Given the description of an element on the screen output the (x, y) to click on. 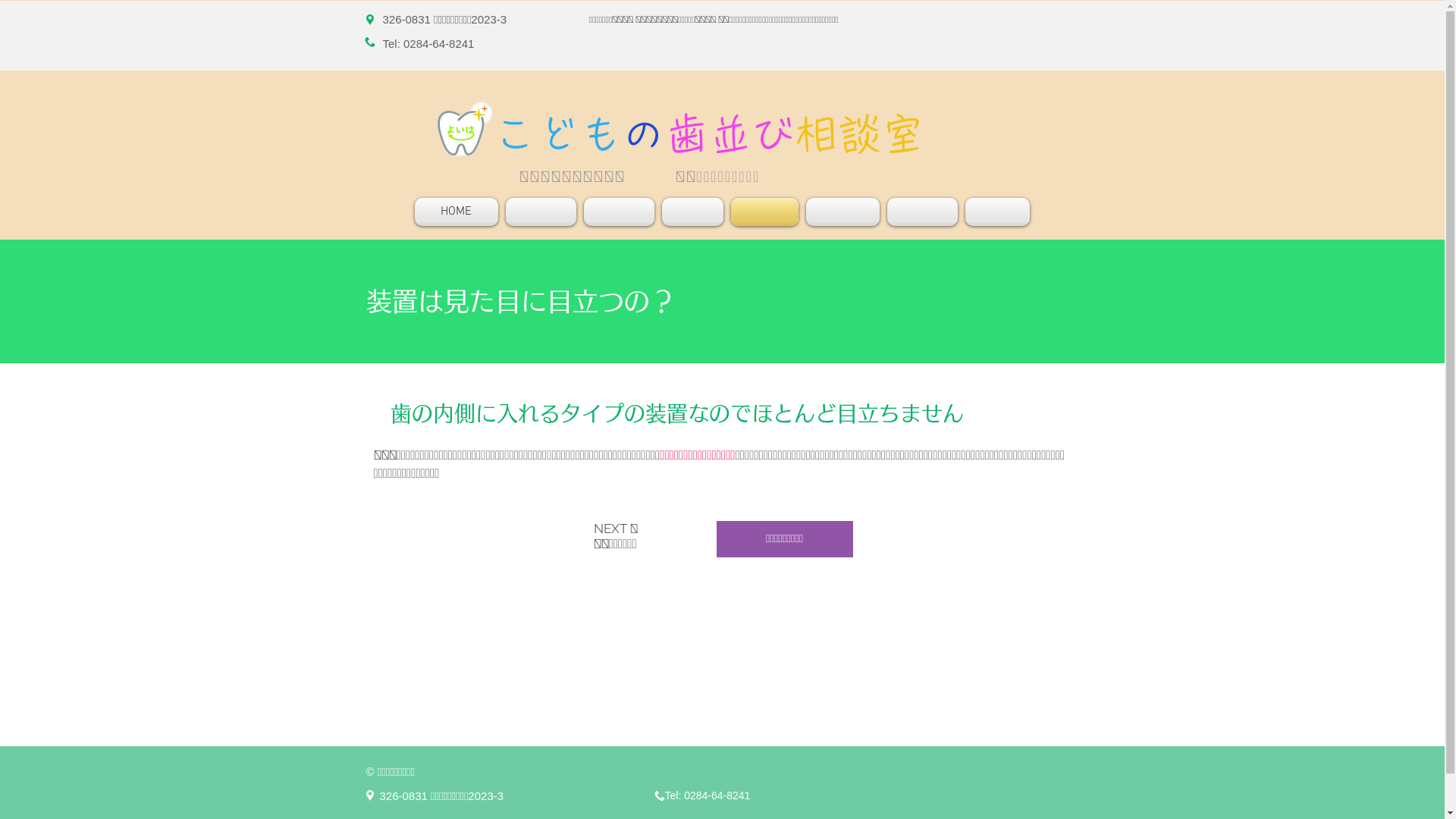
HOME Element type: text (457, 211)
